Given the description of an element on the screen output the (x, y) to click on. 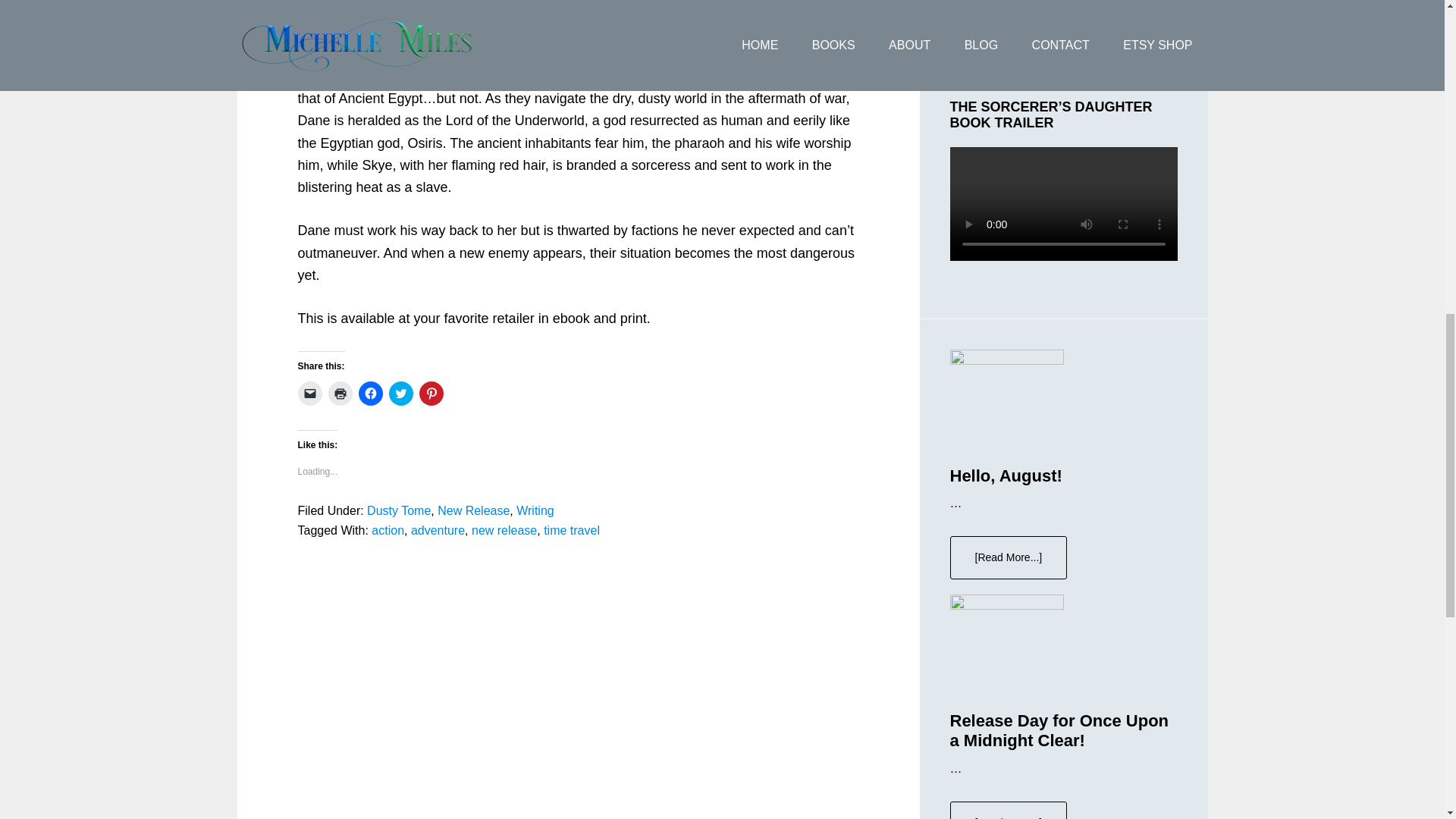
time travel (571, 530)
adventure (437, 530)
Dusty Tome (398, 510)
Click to print (339, 393)
Click to email a link to a friend (309, 393)
action (387, 530)
Click to share on Facebook (369, 393)
New Release (473, 510)
new release (504, 530)
Writing (535, 510)
Click to share on Pinterest (430, 393)
Click to share on Twitter (400, 393)
